Given the description of an element on the screen output the (x, y) to click on. 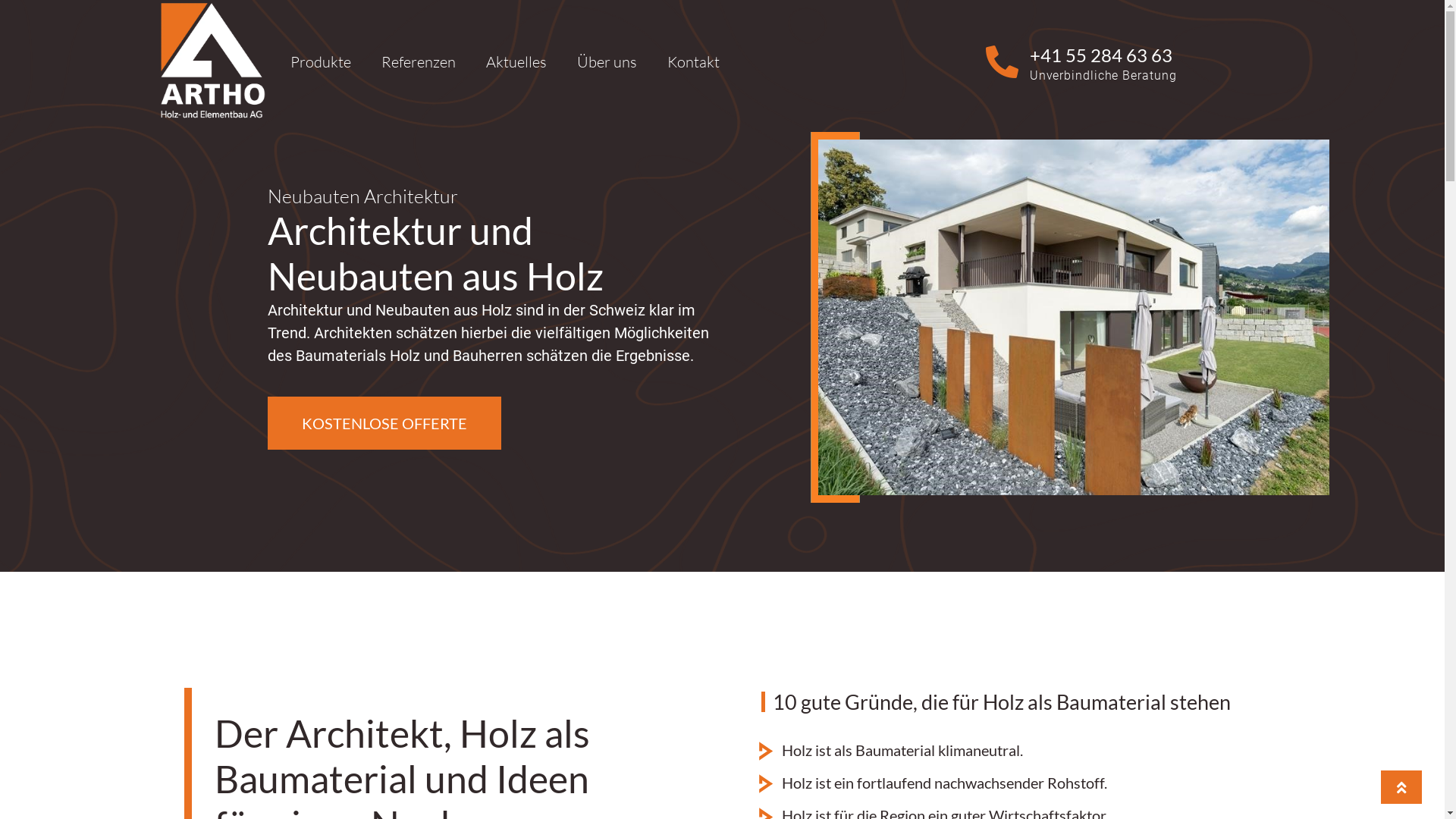
+41 55 284 63 63 Element type: text (1100, 54)
Referenzen Element type: text (417, 61)
KOSTENLOSE OFFERTE Element type: text (383, 422)
Produkte Element type: text (319, 61)
Kontakt Element type: text (693, 61)
Aktuelles Element type: text (515, 61)
